Given the description of an element on the screen output the (x, y) to click on. 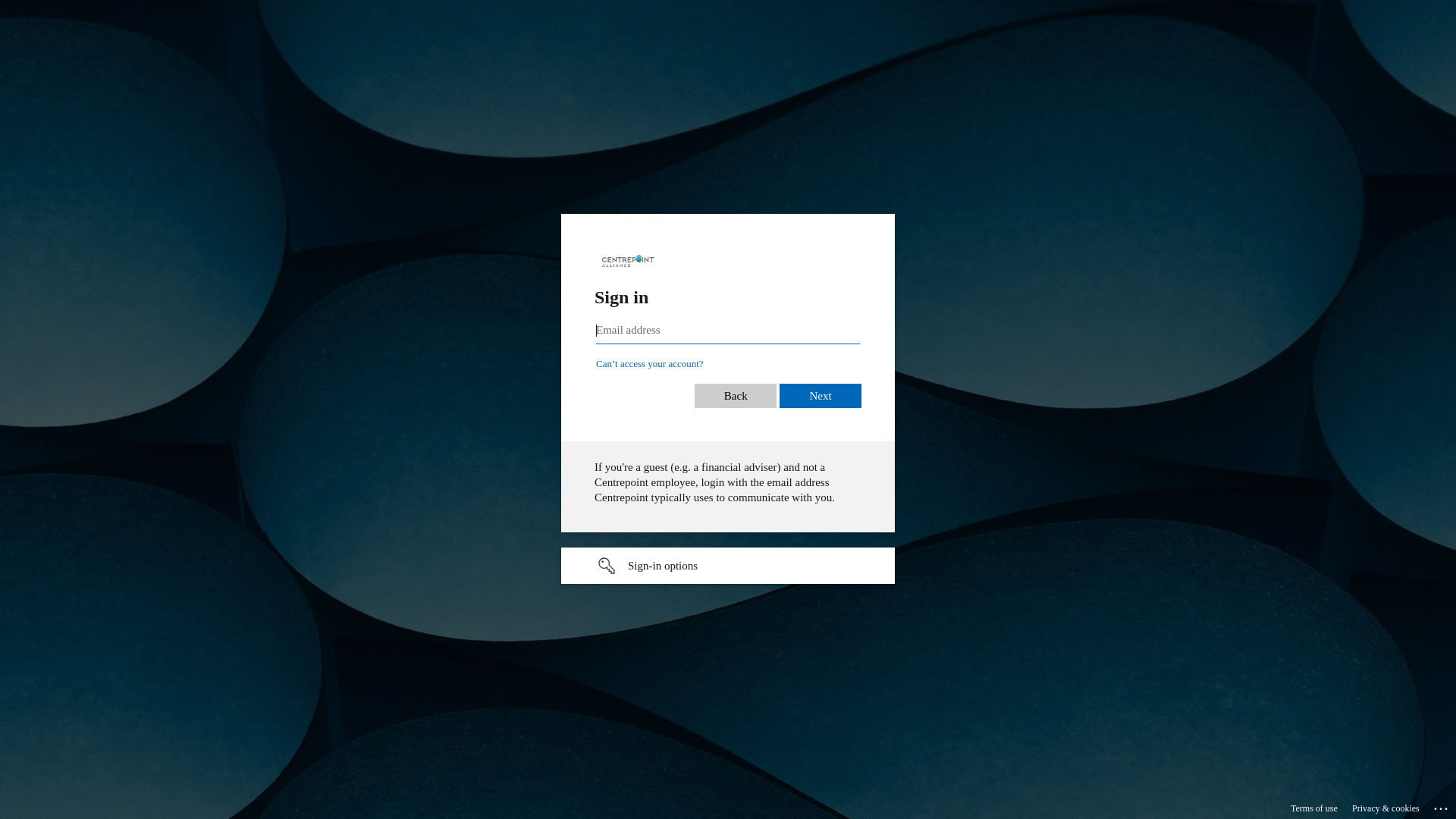
... Element type: text (1441, 805)
